Given the description of an element on the screen output the (x, y) to click on. 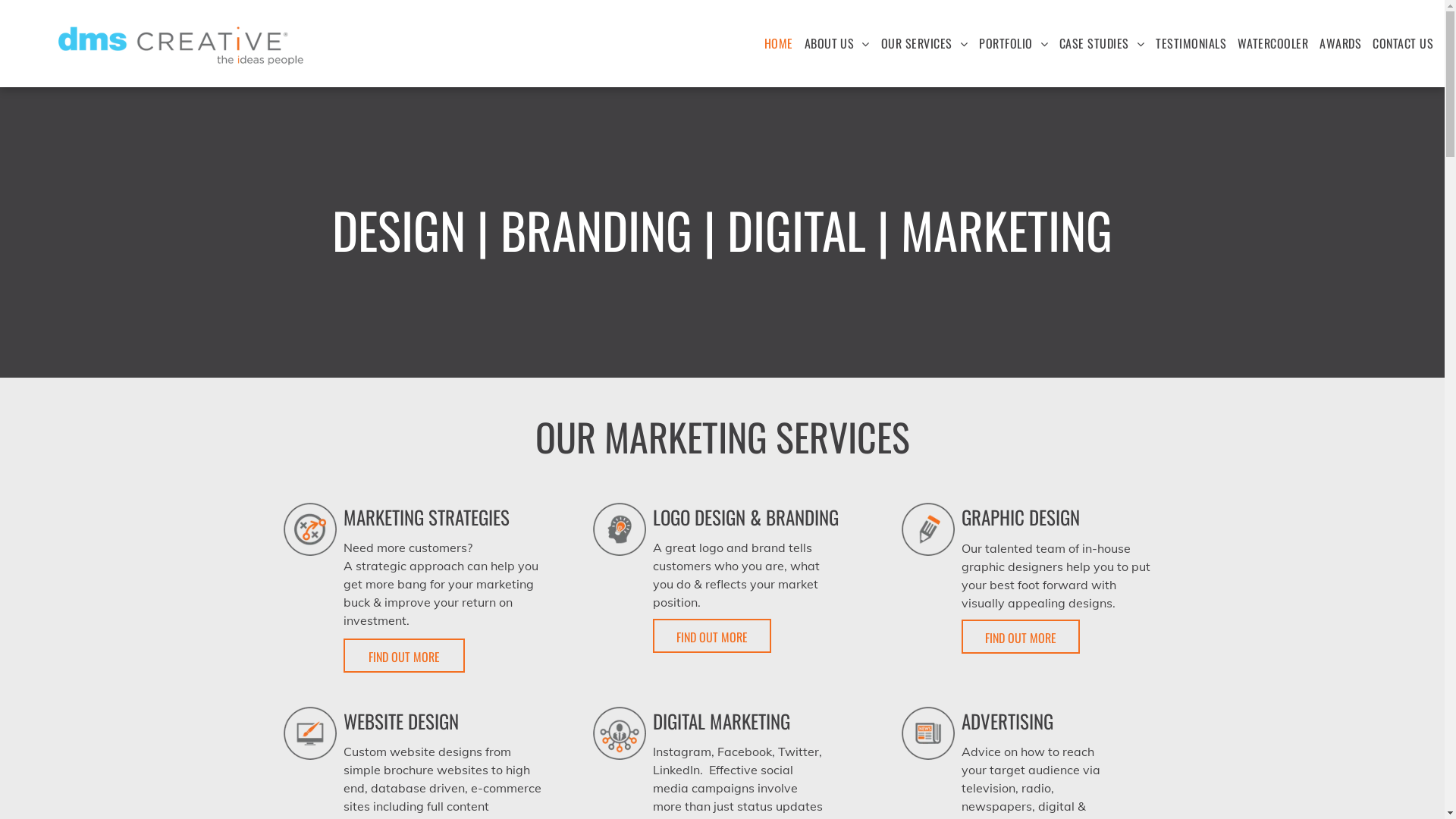
FIND OUT MORE Element type: text (711, 635)
CASE STUDIES Element type: text (1101, 43)
CONTACT US Element type: text (1402, 43)
OUR SERVICES Element type: text (924, 43)
TESTIMONIALS Element type: text (1190, 43)
WATERCOOLER Element type: text (1272, 43)
ABOUT US Element type: text (836, 43)
FIND OUT MORE Element type: text (1020, 636)
AWARDS Element type: text (1340, 43)
PORTFOLIO Element type: text (1013, 43)
FIND OUT MORE Element type: text (403, 655)
HOME Element type: text (778, 43)
